Given the description of an element on the screen output the (x, y) to click on. 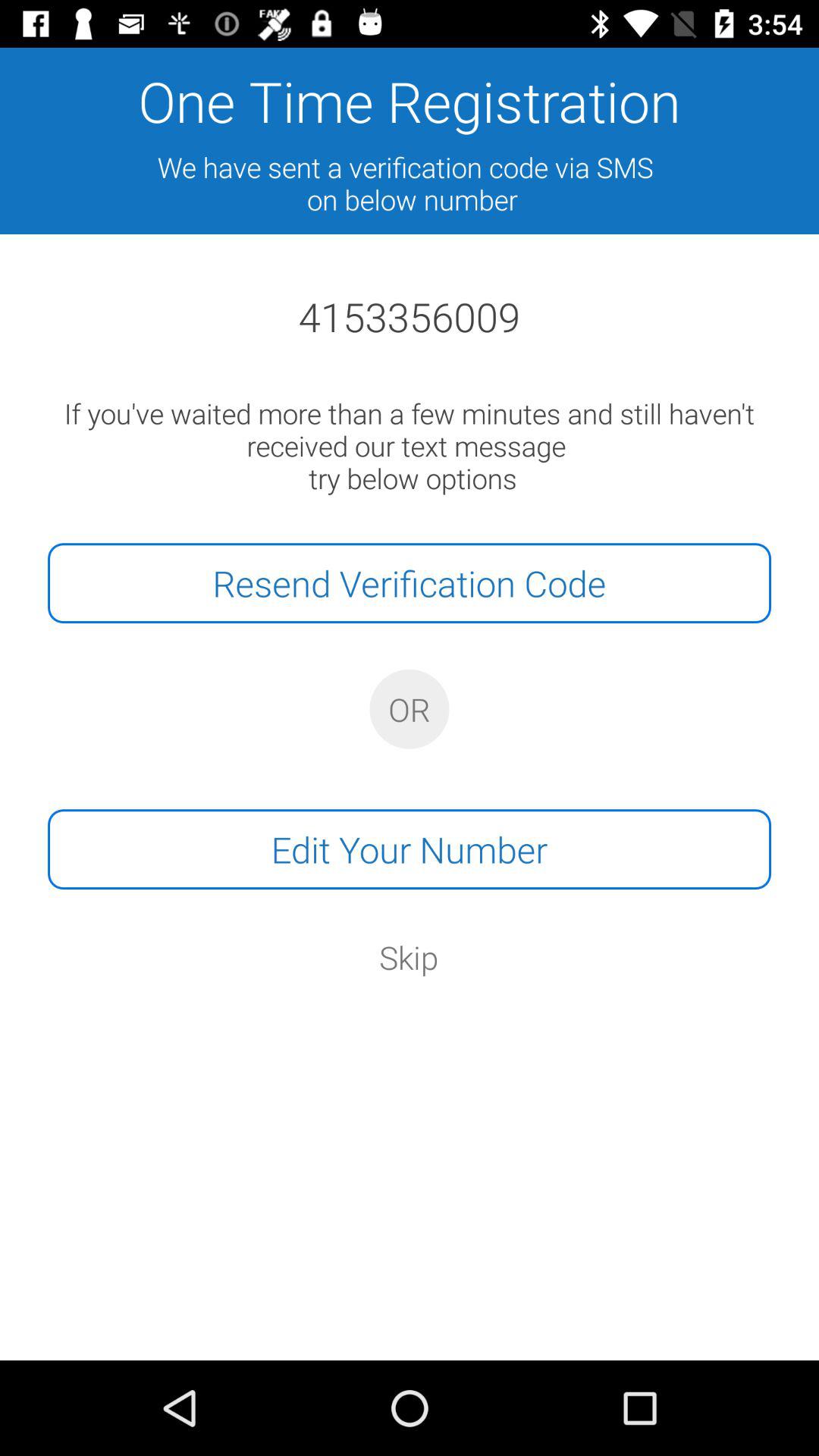
swipe until the skip icon (408, 956)
